Given the description of an element on the screen output the (x, y) to click on. 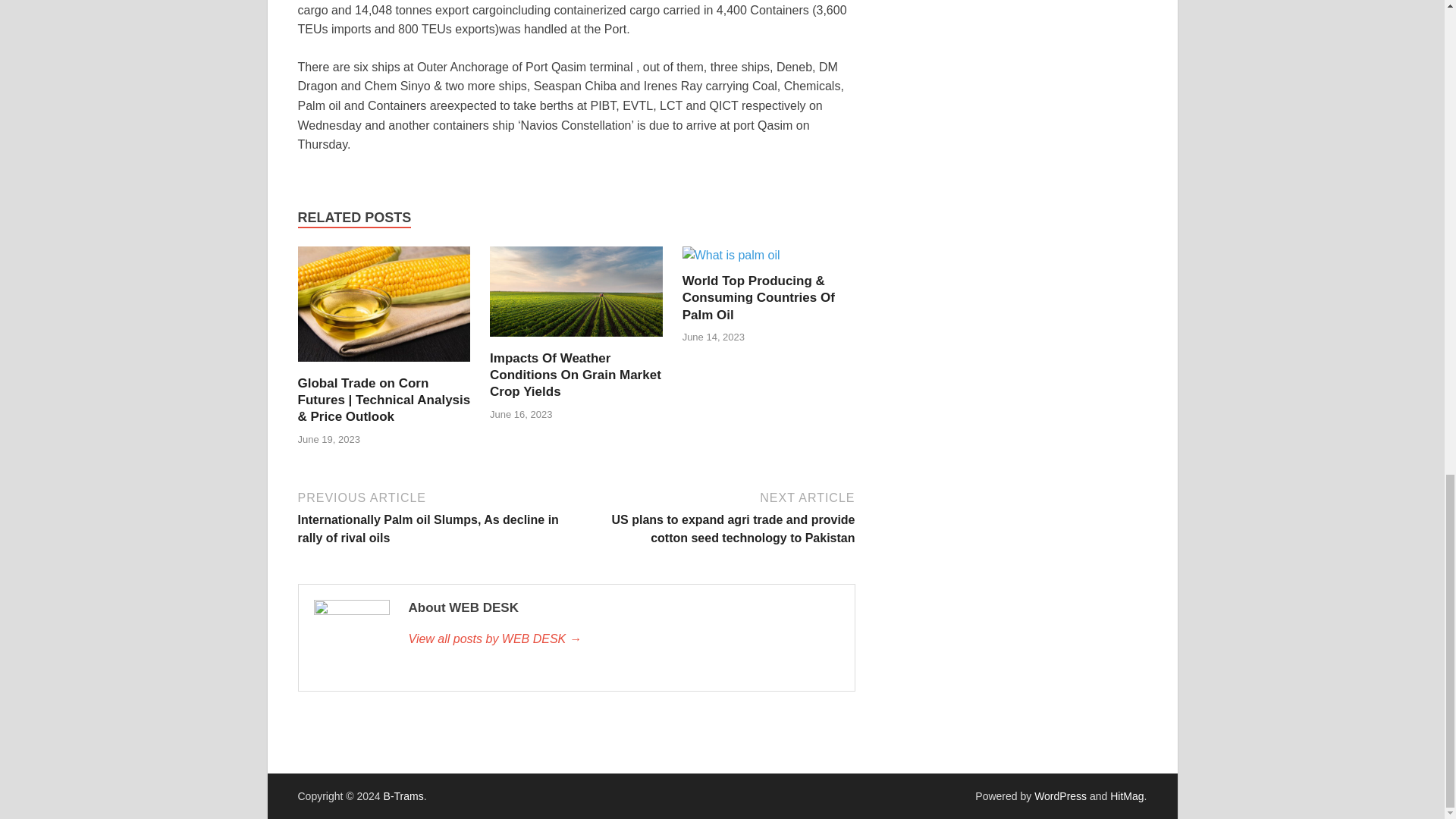
WEB DESK (622, 638)
WordPress (1059, 796)
Impacts Of Weather Conditions On Grain Market Crop Yields (575, 374)
Impacts Of Weather Conditions On Grain Market Crop Yields (575, 340)
HitMag WordPress Theme (1125, 796)
B-Trams (403, 796)
